Given the description of an element on the screen output the (x, y) to click on. 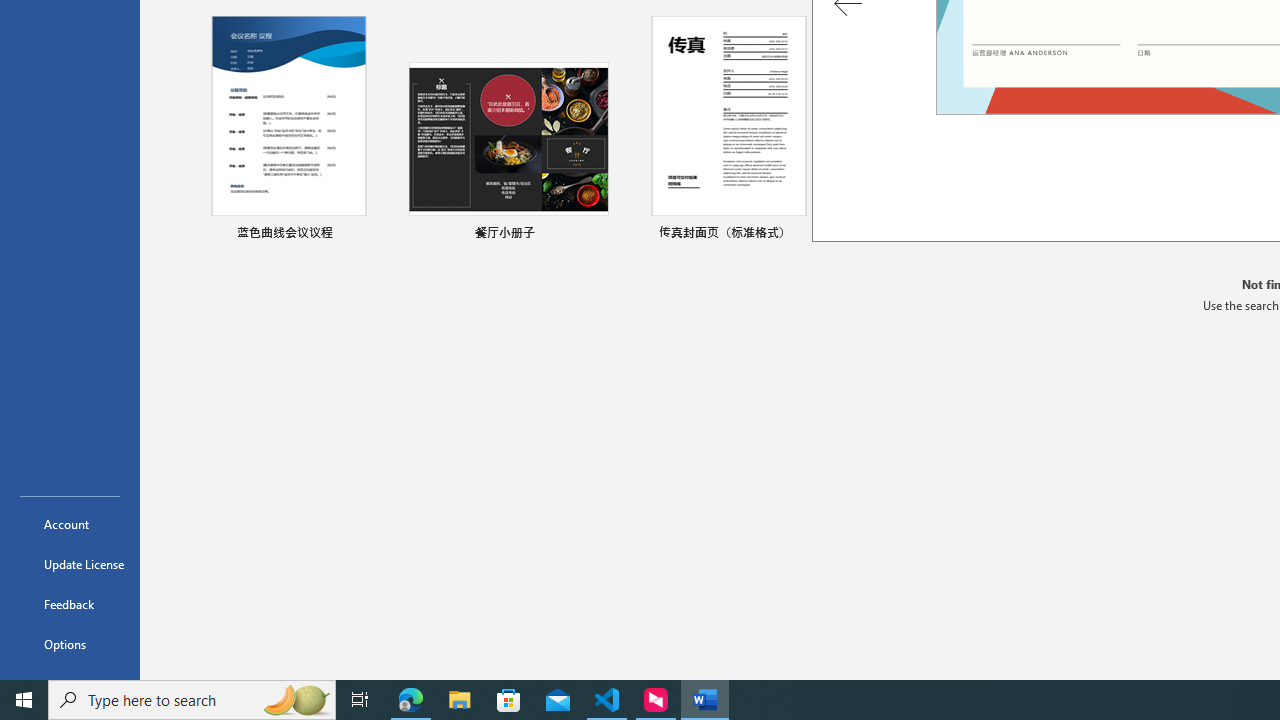
Feedback (69, 603)
Update License (69, 563)
Options (69, 643)
Pin to list (1255, 234)
Account (69, 523)
